Given the description of an element on the screen output the (x, y) to click on. 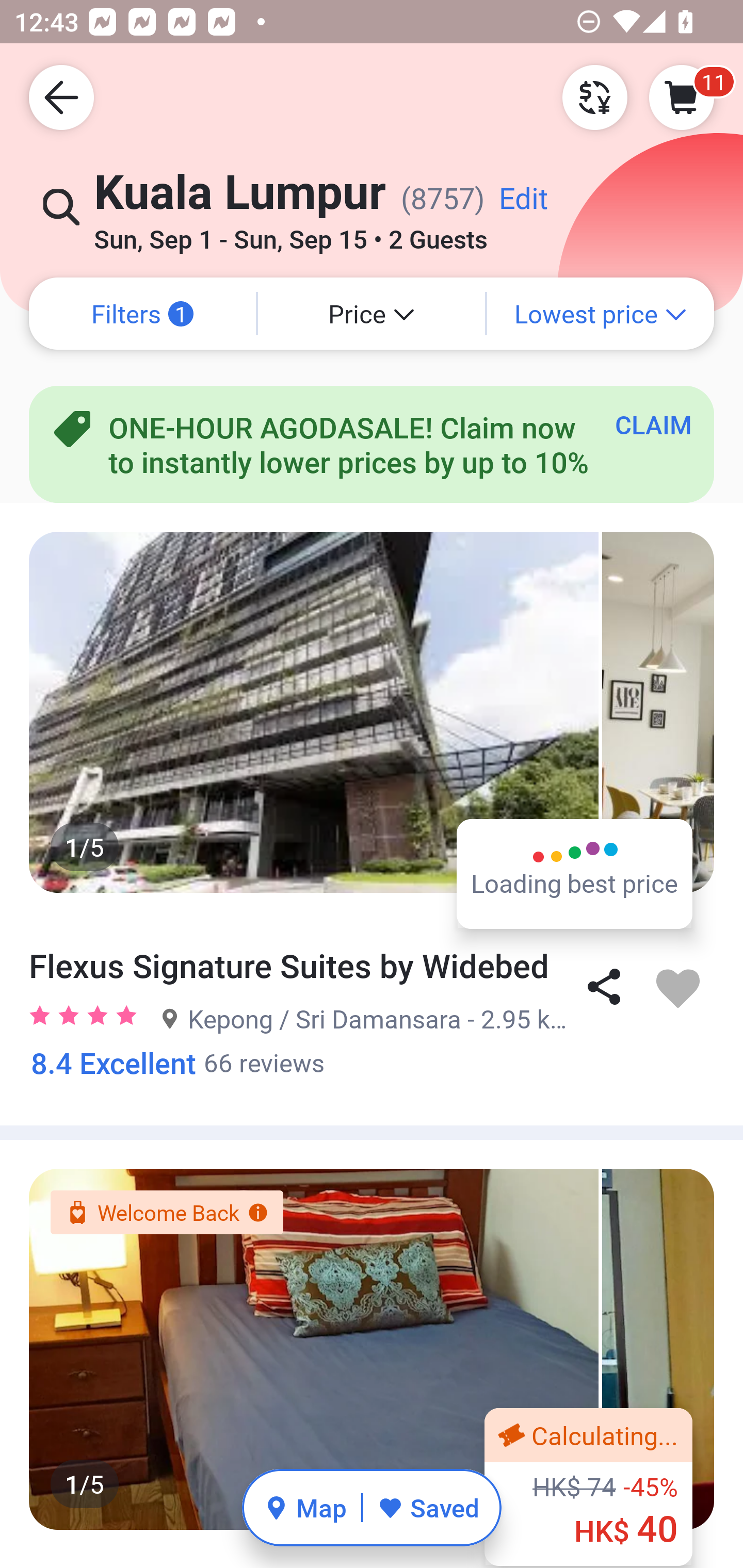
Edit (523, 205)
Sun, Sep 1 - Sun, Sep 15 • 2 Guests (290, 232)
Filters 1 (141, 313)
Price (371, 313)
Lowest price (600, 313)
CLAIM (653, 424)
1/5 (371, 711)
Loading best price (574, 873)
1/5 (371, 1349)
Welcome Back (166, 1212)
Calculating... ‪HK$ 74 -45% ‪HK$ 40 (588, 1487)
Map (305, 1507)
Saved (428, 1507)
